Given the description of an element on the screen output the (x, y) to click on. 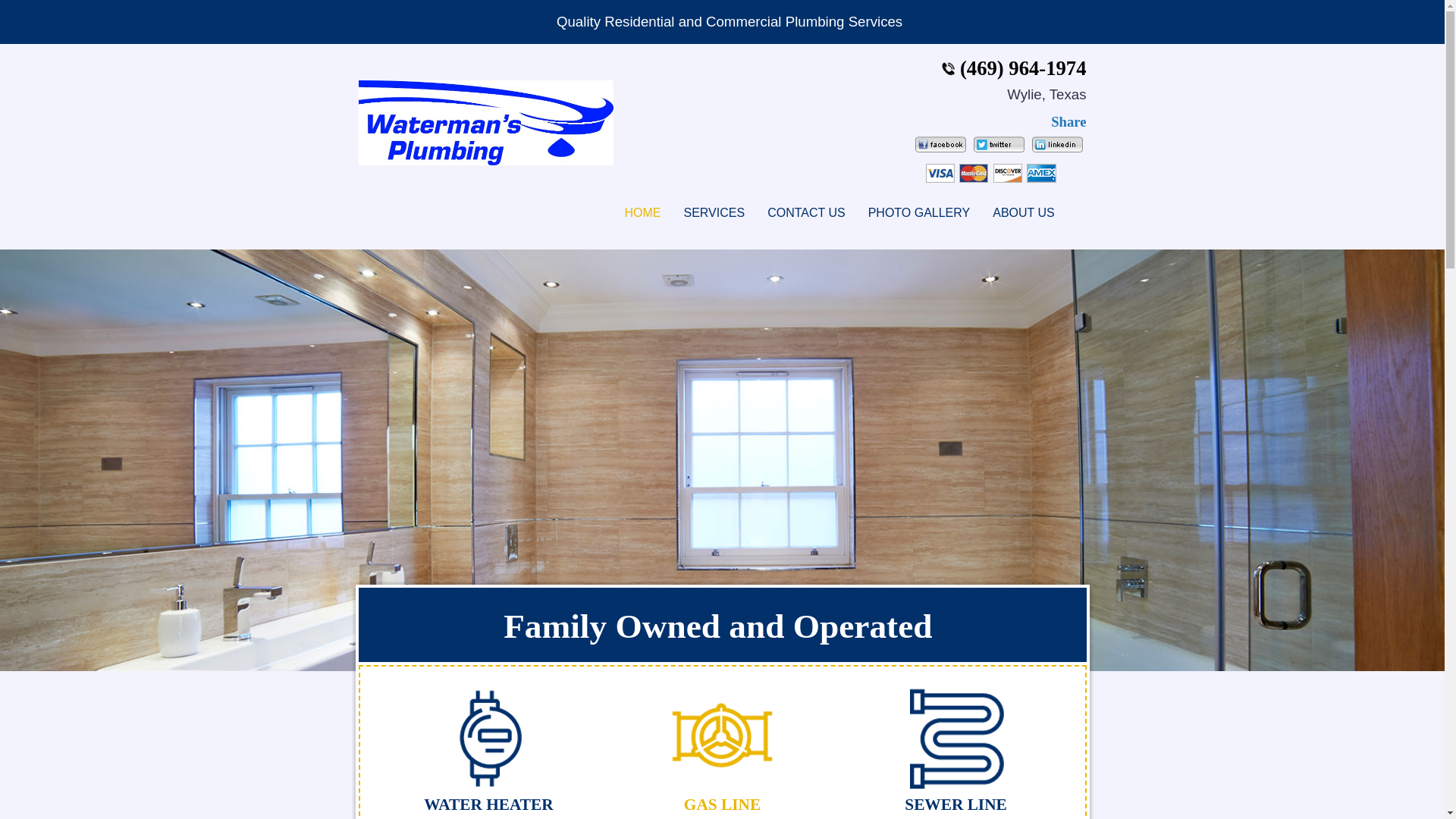
Waterman's Plumbing (485, 123)
Pipe Line Icon (956, 739)
PHOTO GALLERY (919, 213)
Pipe with Valve Icon (722, 739)
WATER HEATER INSTALLATIONS (488, 775)
ABOUT US (1023, 213)
Meter Icon (487, 739)
CONTACT US (806, 213)
SERVICES (714, 213)
HOME (642, 213)
